Given the description of an element on the screen output the (x, y) to click on. 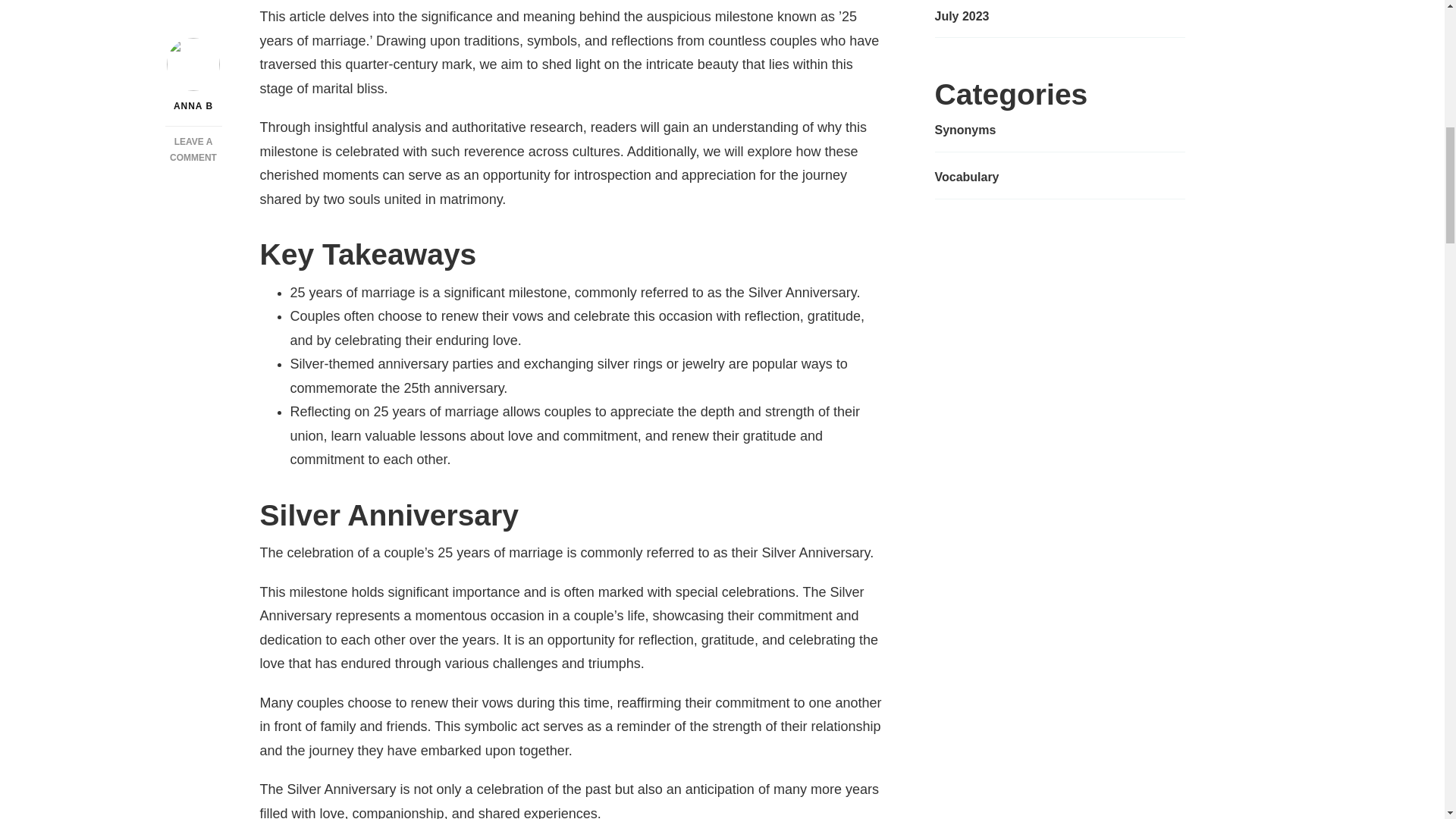
Synonyms (964, 130)
July 2023 (961, 16)
Vocabulary (966, 177)
